Given the description of an element on the screen output the (x, y) to click on. 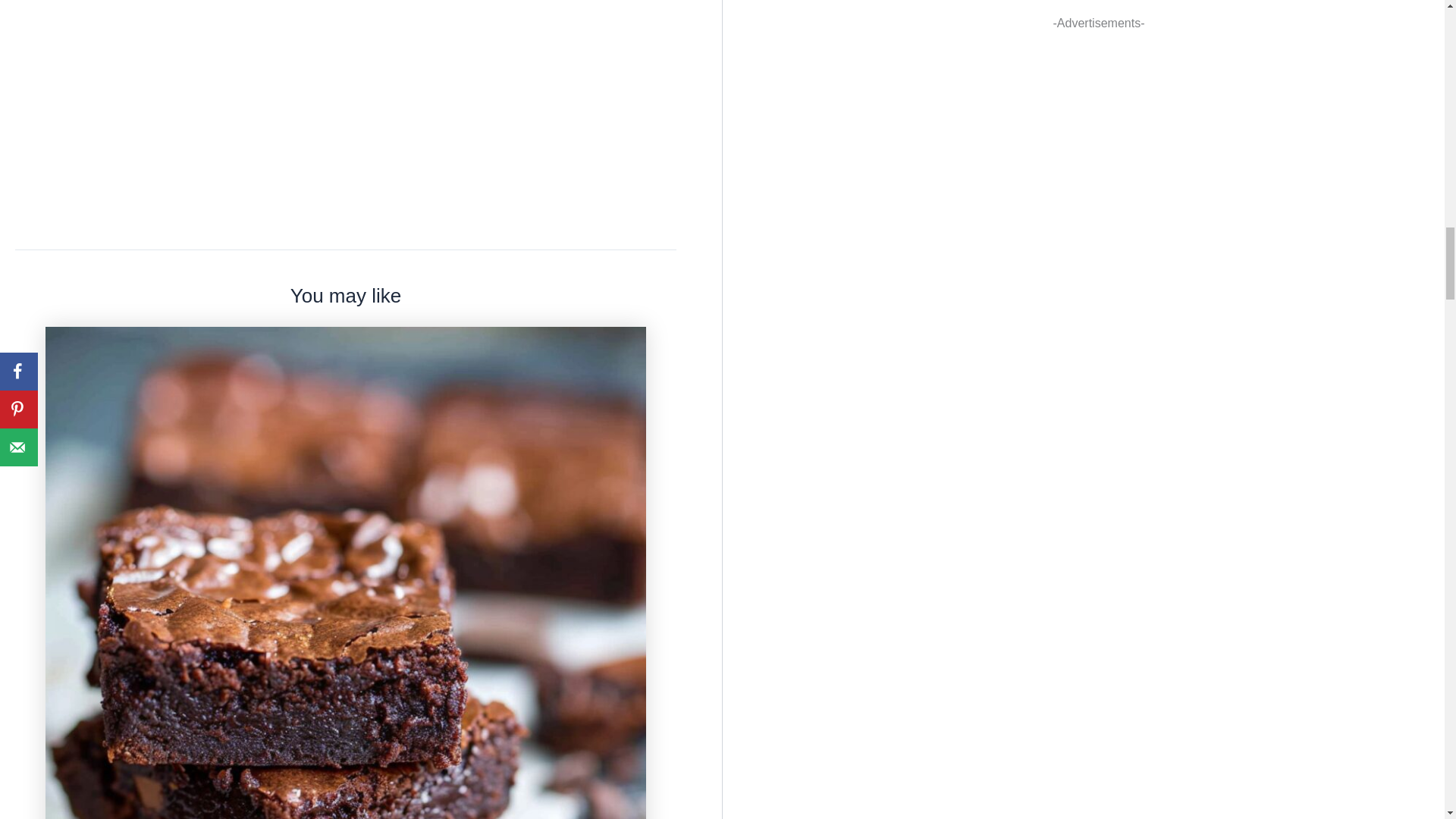
Advertisement (1098, 12)
